Given the description of an element on the screen output the (x, y) to click on. 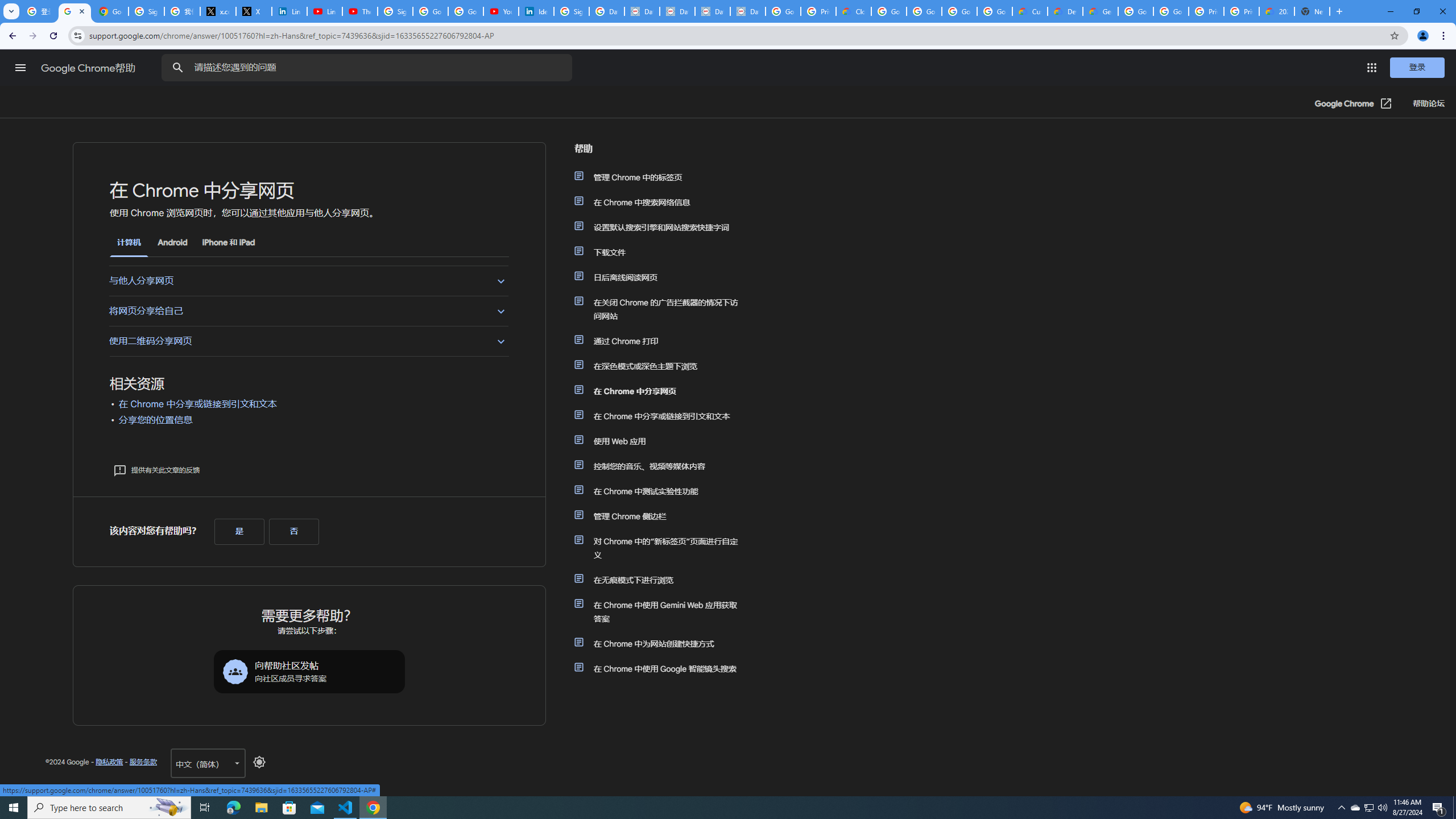
LinkedIn Privacy Policy (288, 11)
Customer Care | Google Cloud (1029, 11)
Data Privacy Framework (641, 11)
Google Workspace - Specific Terms (959, 11)
